Given the description of an element on the screen output the (x, y) to click on. 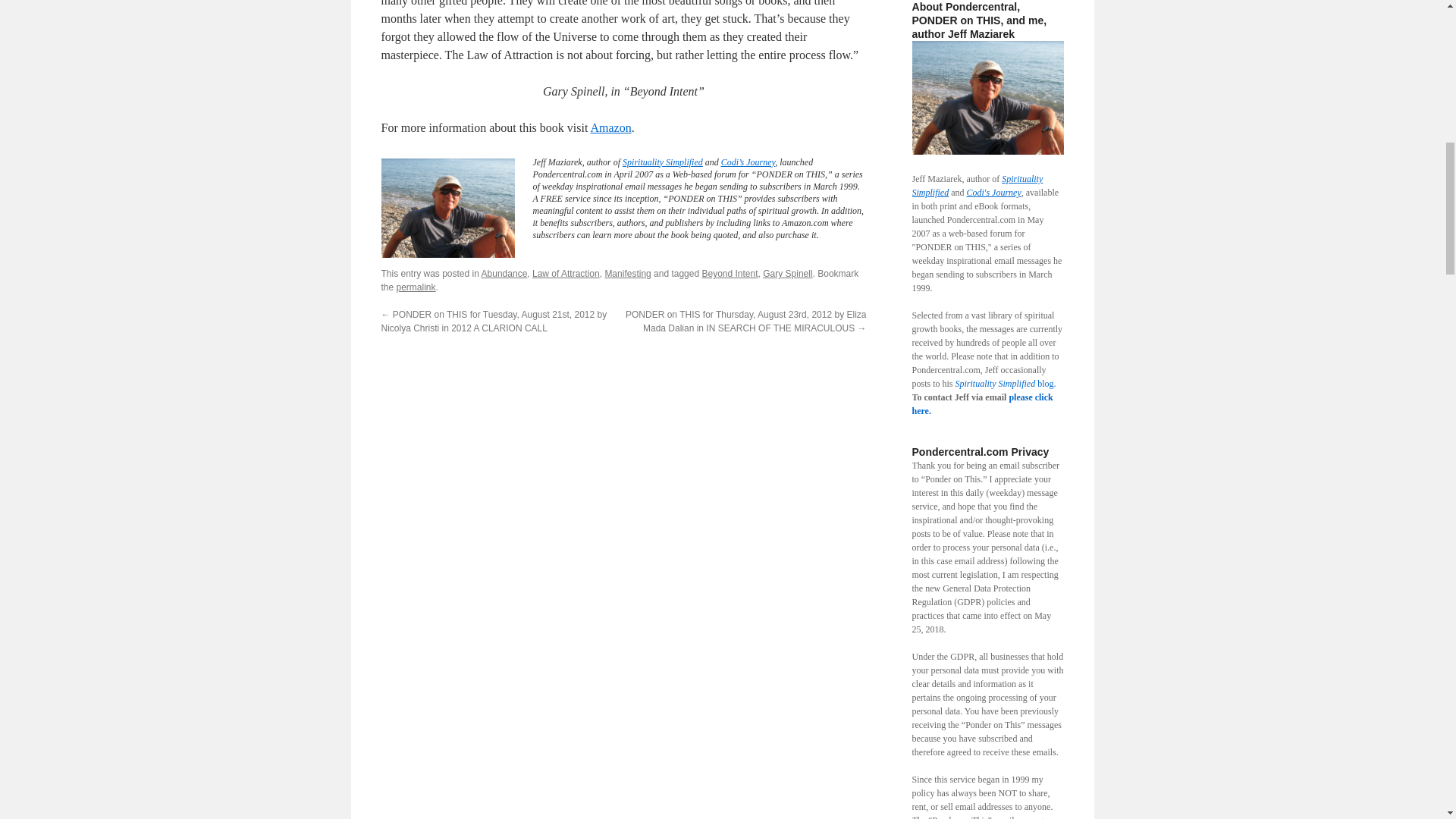
Spirituality Simplified (976, 185)
Abundance (504, 273)
Amazon (609, 127)
Beyond Intent (729, 273)
Law of Attraction (565, 273)
Gary Spinell (787, 273)
permalink (415, 286)
Spirituality Simplified blog. (1006, 383)
Manifesting (627, 273)
please click here. (981, 404)
Spirituality Simplified (663, 162)
Codi's Journey (993, 192)
